Given the description of an element on the screen output the (x, y) to click on. 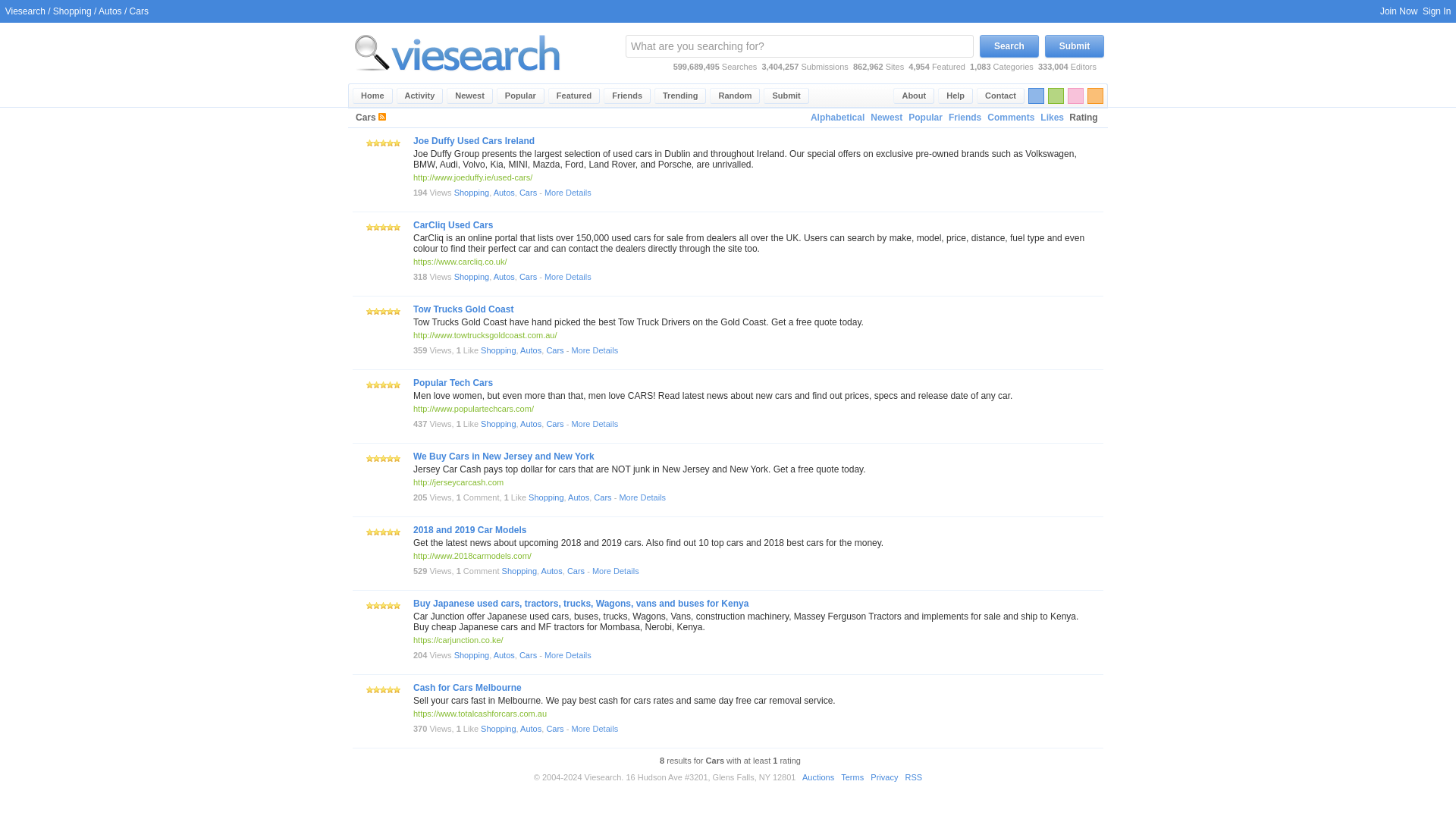
Popular (924, 117)
Submit (1074, 46)
Contact (1000, 95)
Join Now (1398, 10)
More Details (567, 192)
Recent social activity (420, 95)
Home (372, 95)
Submit (785, 95)
Viesearch - Human Powered Search Engine (457, 52)
Autos (110, 10)
Trending (679, 95)
Search (1009, 46)
The top 50 longest featured sites in Viesearch (573, 95)
Create a Username (1398, 10)
